Given the description of an element on the screen output the (x, y) to click on. 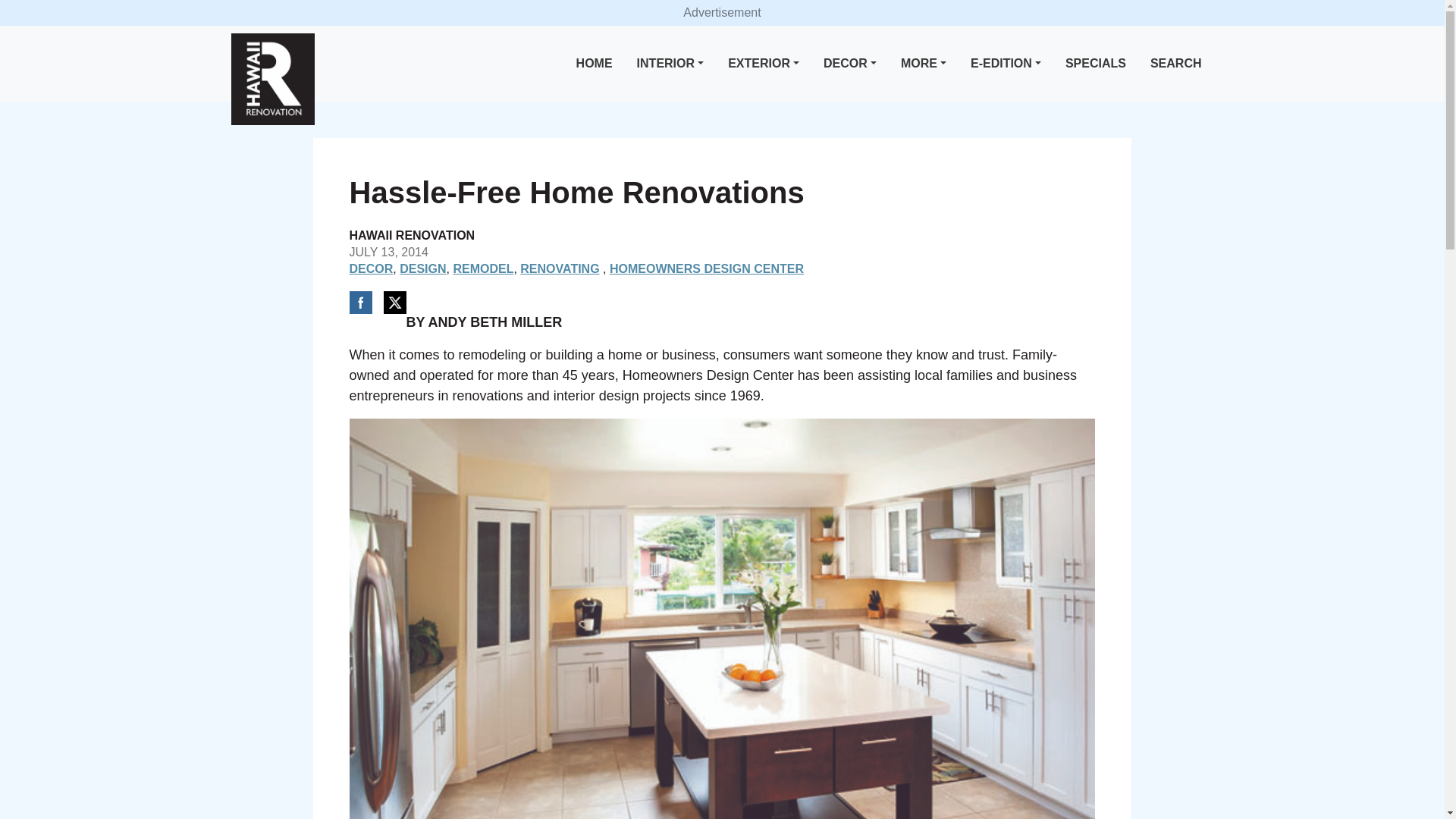
DECOR (371, 268)
DESIGN (421, 268)
SPECIALS (1095, 63)
Hawaii Renovation (272, 79)
RENOVATING (558, 268)
Twitter (395, 302)
SEARCH (1176, 63)
Facebook (360, 302)
REMODEL (482, 268)
E-EDITION (1004, 63)
